Given the description of an element on the screen output the (x, y) to click on. 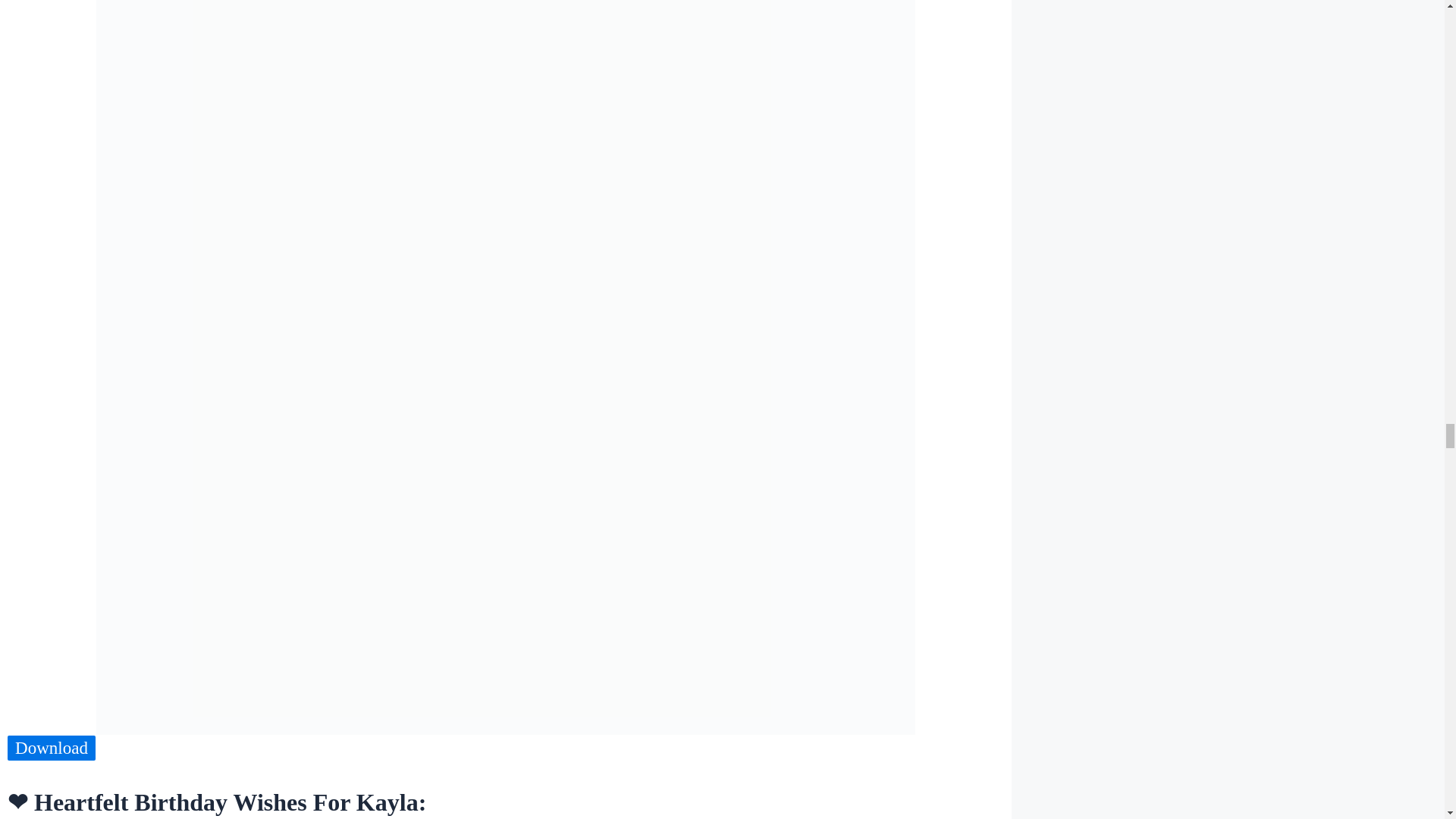
Download (51, 748)
